Given the description of an element on the screen output the (x, y) to click on. 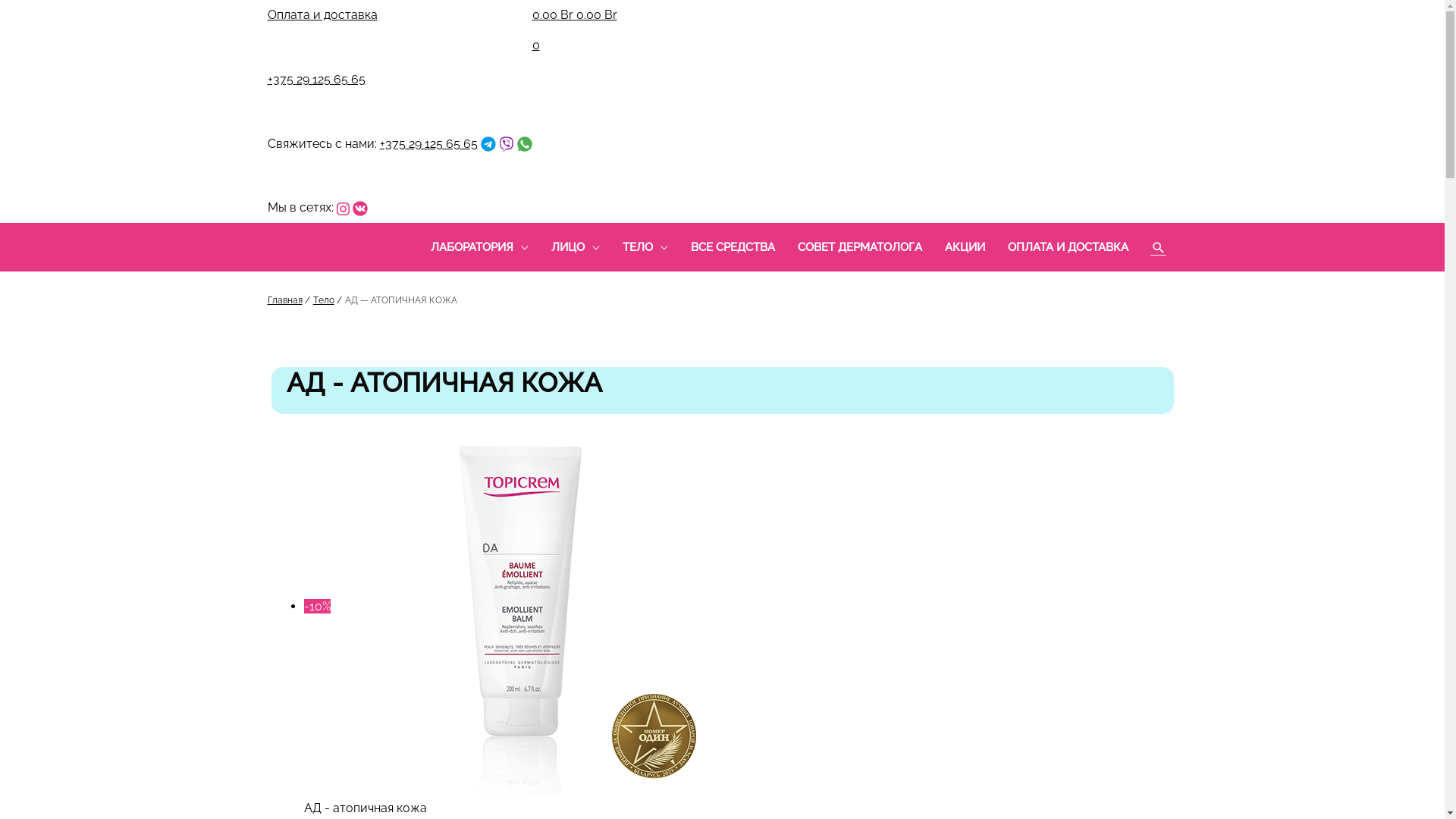
0.00 Br 0.00 Br
0 Element type: text (574, 33)
+375 29 125 65 65 Element type: text (427, 143)
+375 29 125 65 65 Element type: text (315, 79)
